Given the description of an element on the screen output the (x, y) to click on. 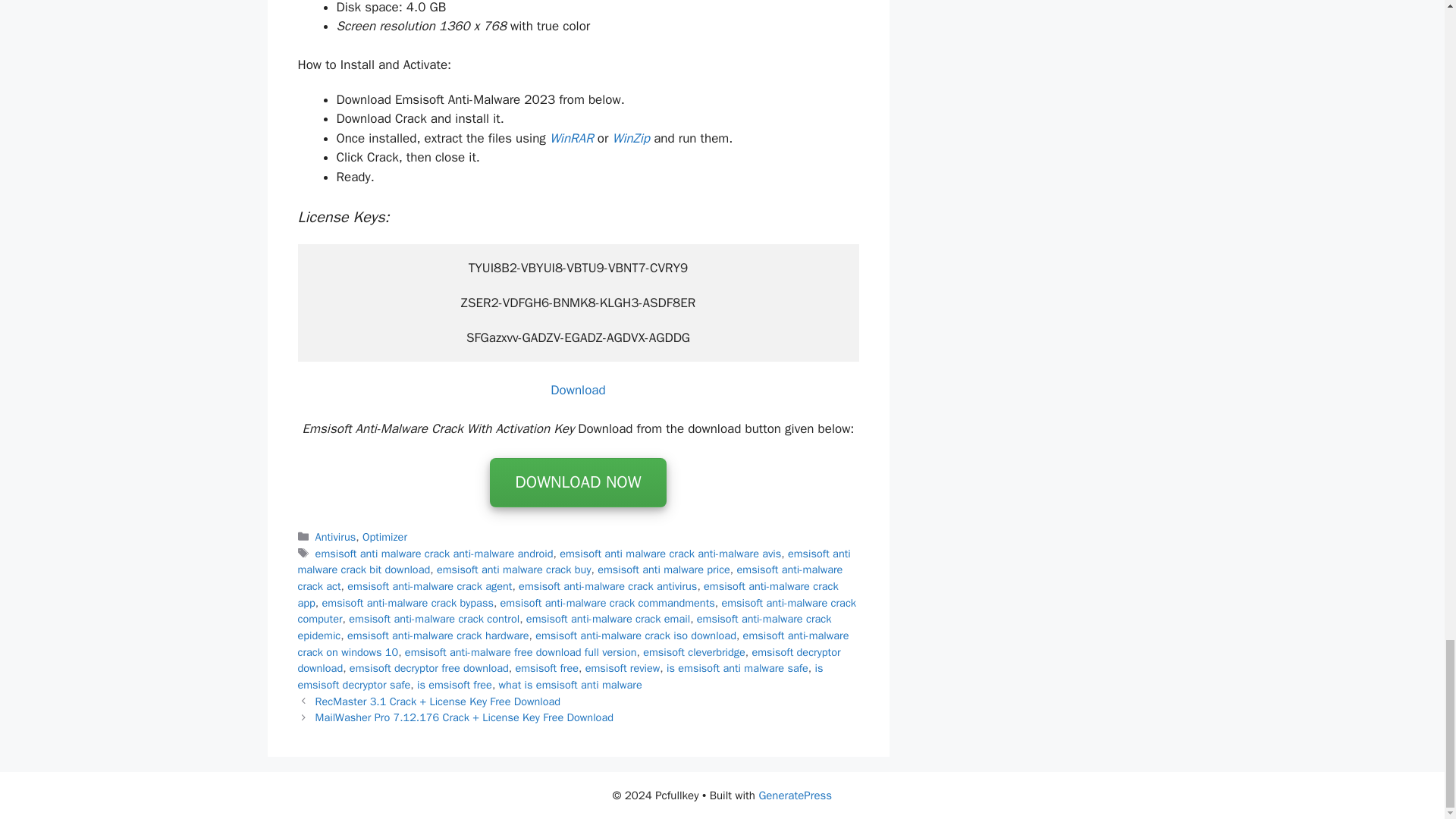
DOWNLOAD NOW (577, 481)
WinRAR (572, 138)
Download (577, 390)
WinZip (630, 138)
DOWNLOAD NOW (577, 483)
